Given the description of an element on the screen output the (x, y) to click on. 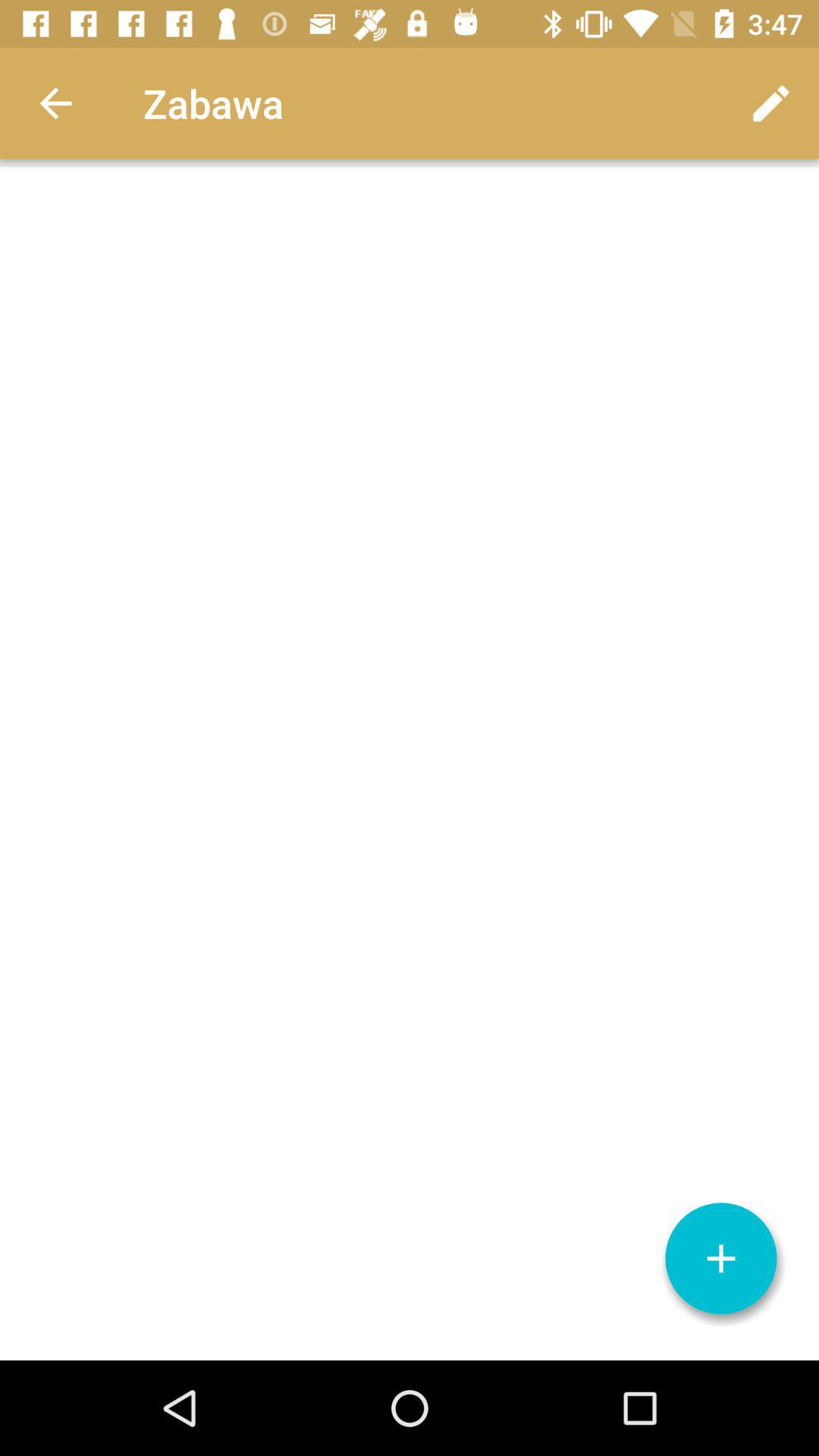
tap app next to zabawa app (55, 103)
